Given the description of an element on the screen output the (x, y) to click on. 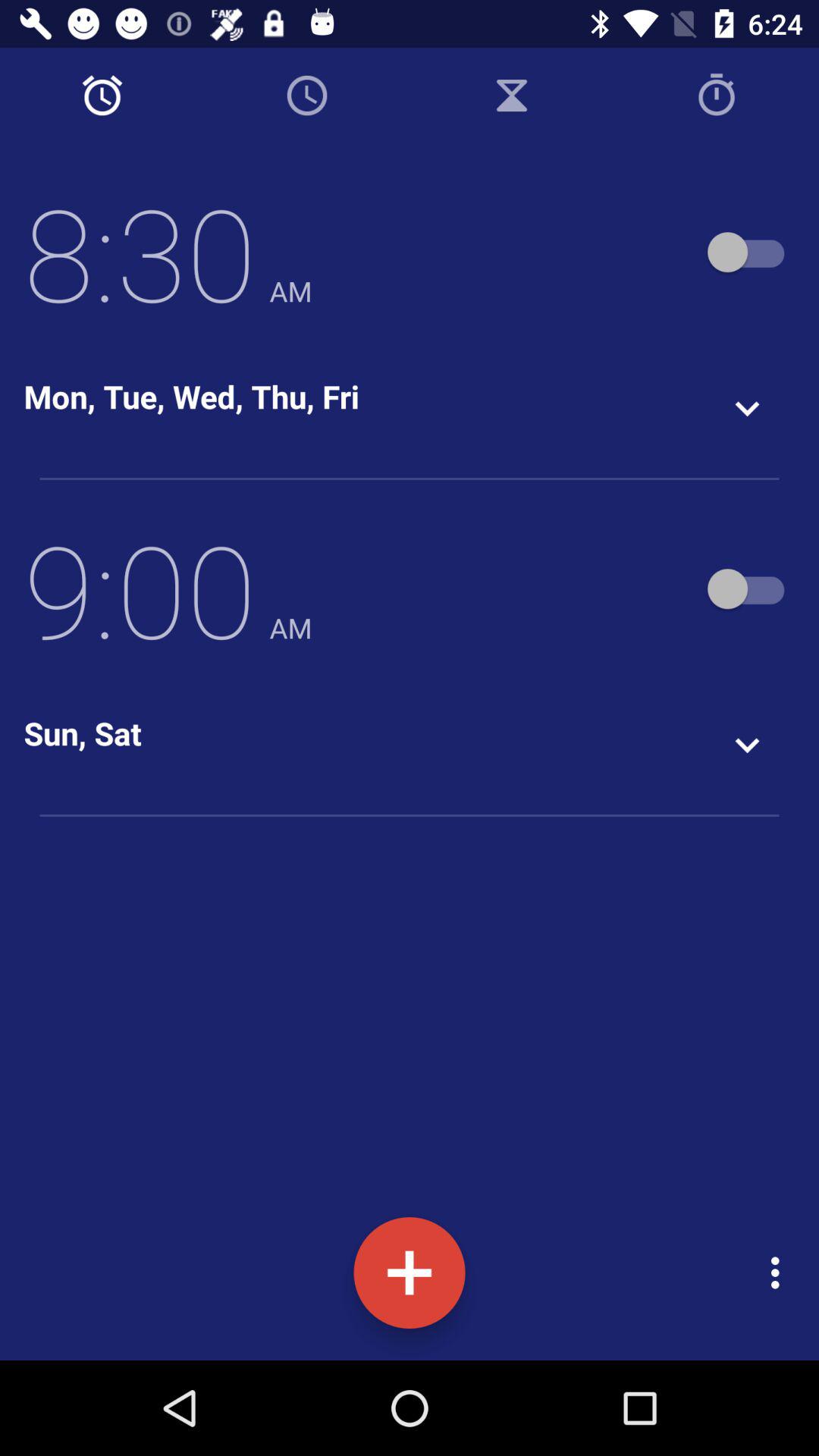
select the mon tue wed icon (191, 396)
